Given the description of an element on the screen output the (x, y) to click on. 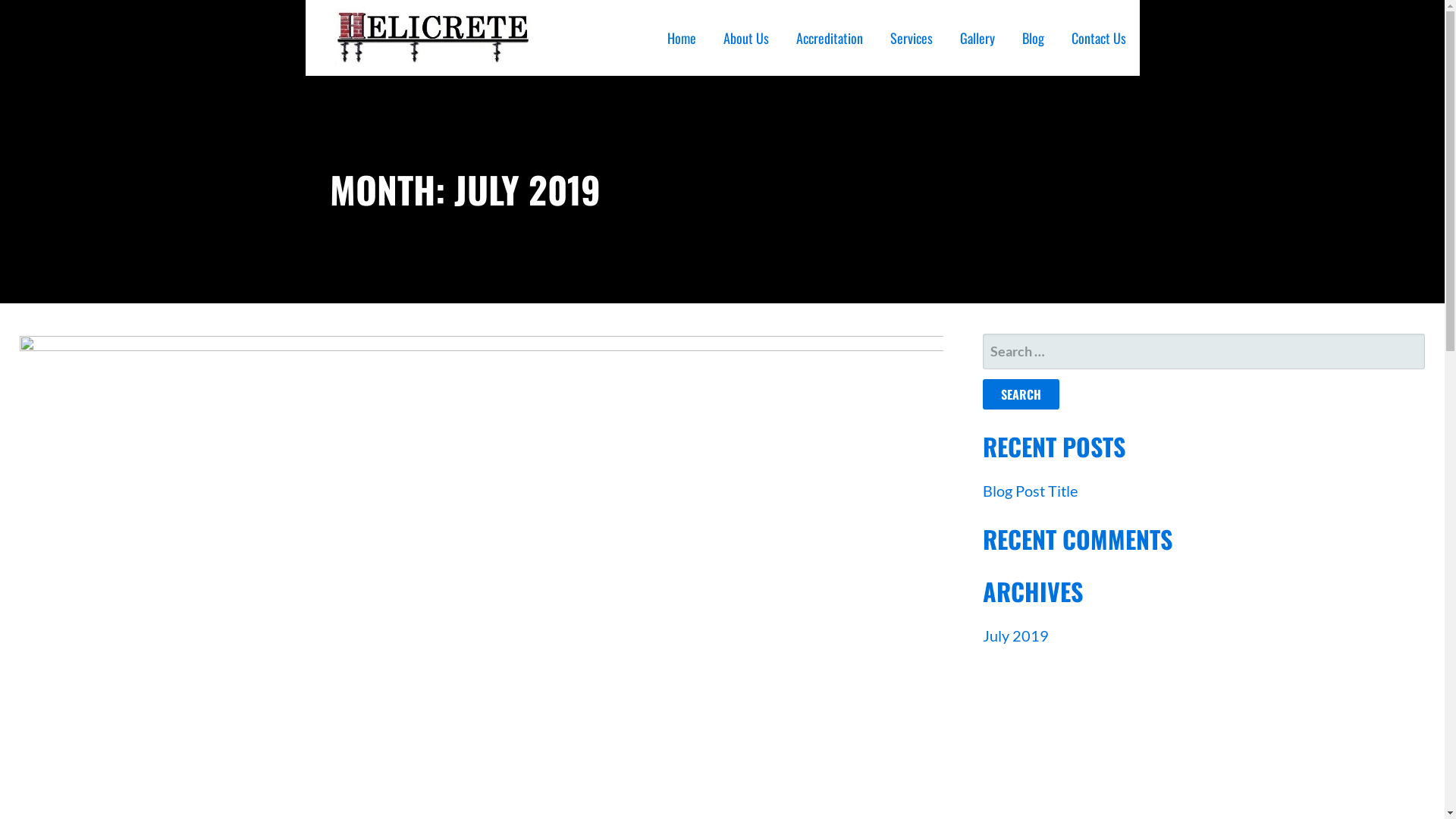
Home Element type: text (681, 37)
Blog Post Title Element type: text (1029, 490)
Search Element type: text (1020, 394)
Services Element type: text (911, 37)
July 2019 Element type: text (1015, 635)
Contact Us Element type: text (1098, 37)
Accreditation Element type: text (829, 37)
Skip to content Element type: text (0, 0)
About Us Element type: text (745, 37)
Blog Element type: text (1032, 37)
Gallery Element type: text (977, 37)
